Given the description of an element on the screen output the (x, y) to click on. 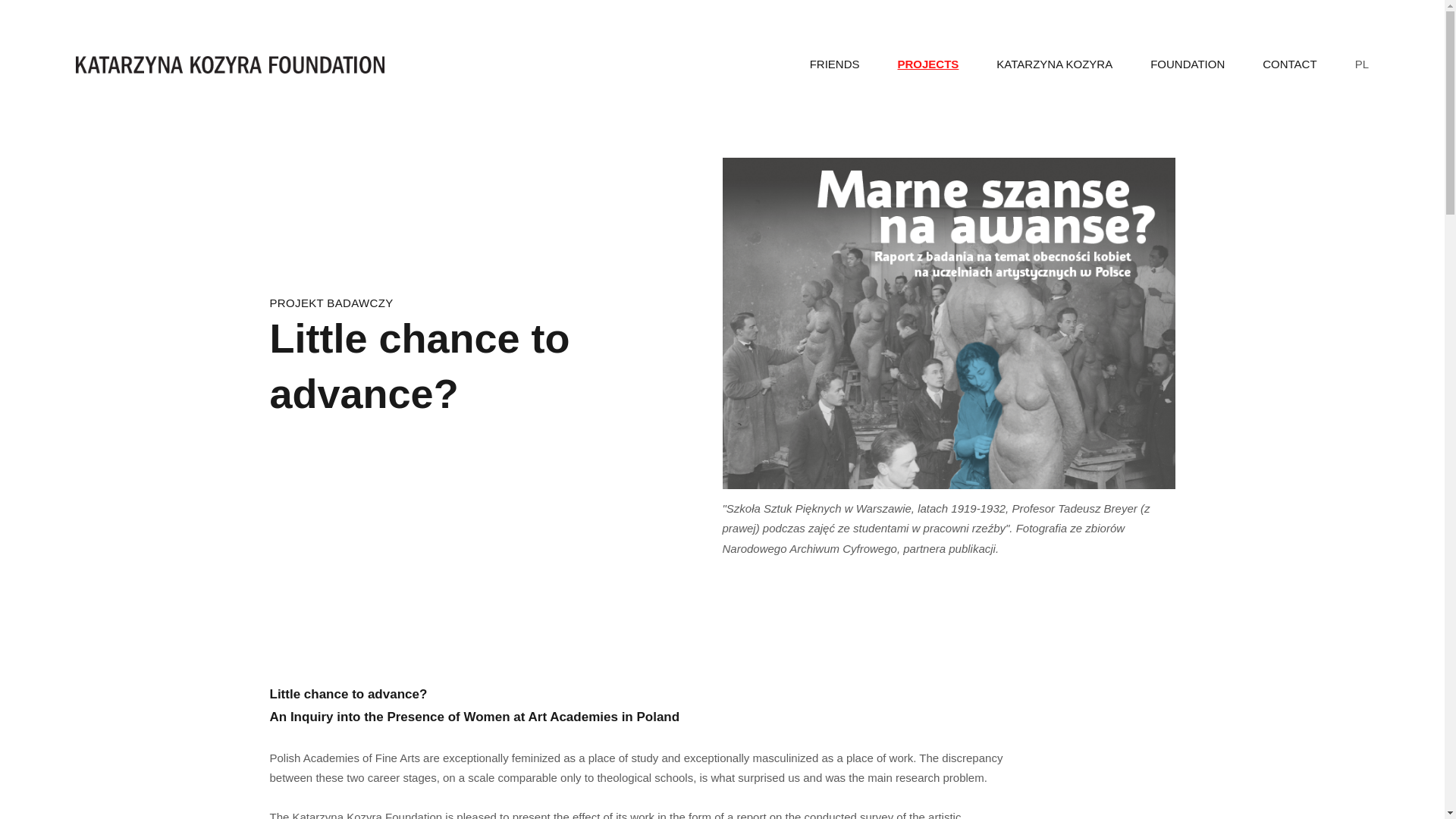
Fundacja Katarzyny Kozyry (229, 64)
KATARZYNA KOZYRA (1053, 63)
FRIENDS (834, 63)
CONTACT (1289, 63)
FOUNDATION (1187, 63)
PROJECTS (928, 63)
